Given the description of an element on the screen output the (x, y) to click on. 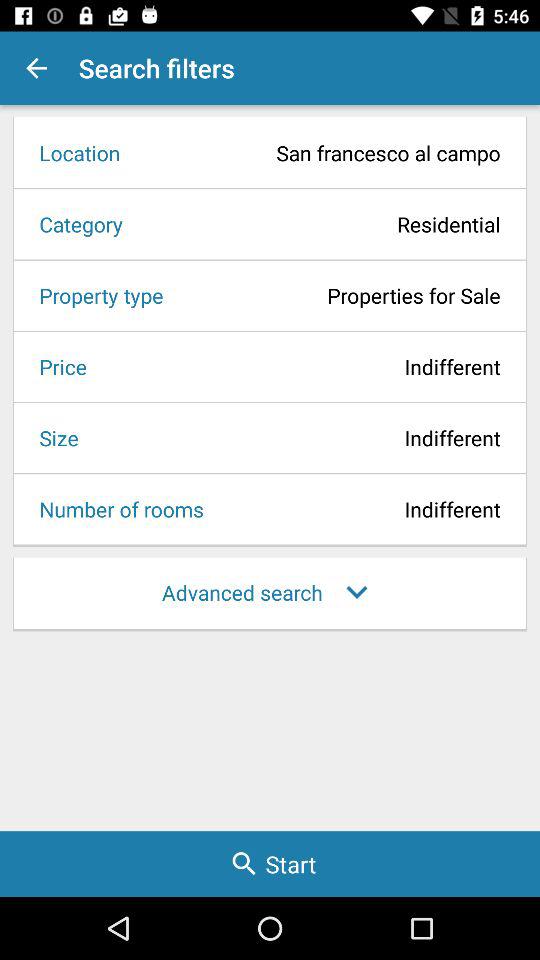
press the item below the location item (318, 224)
